Given the description of an element on the screen output the (x, y) to click on. 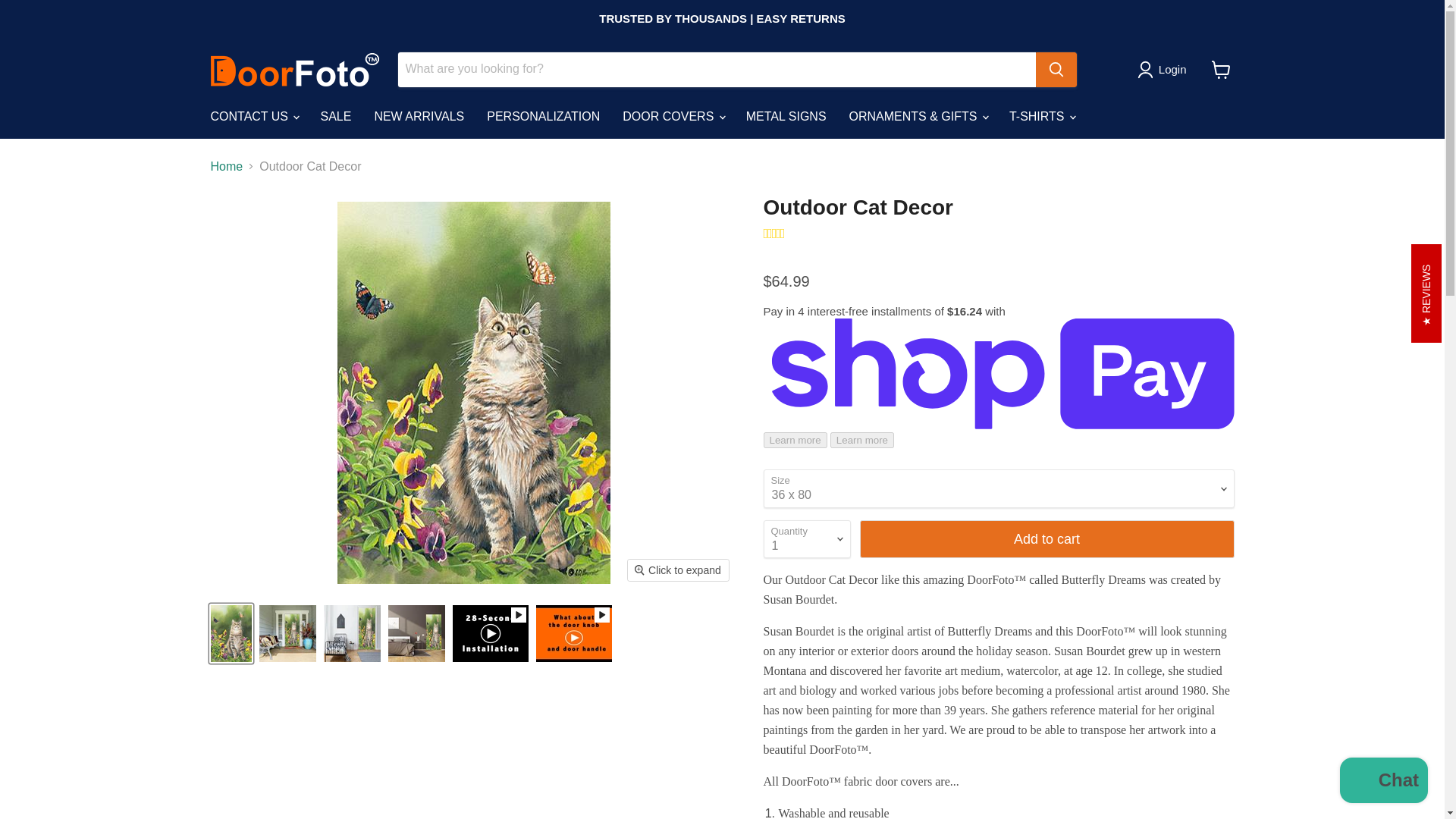
SALE (335, 115)
NEW ARRIVALS (419, 115)
Shopify online store chat (1383, 781)
PERSONALIZATION (543, 115)
View cart (1221, 69)
Login (1172, 69)
